Given the description of an element on the screen output the (x, y) to click on. 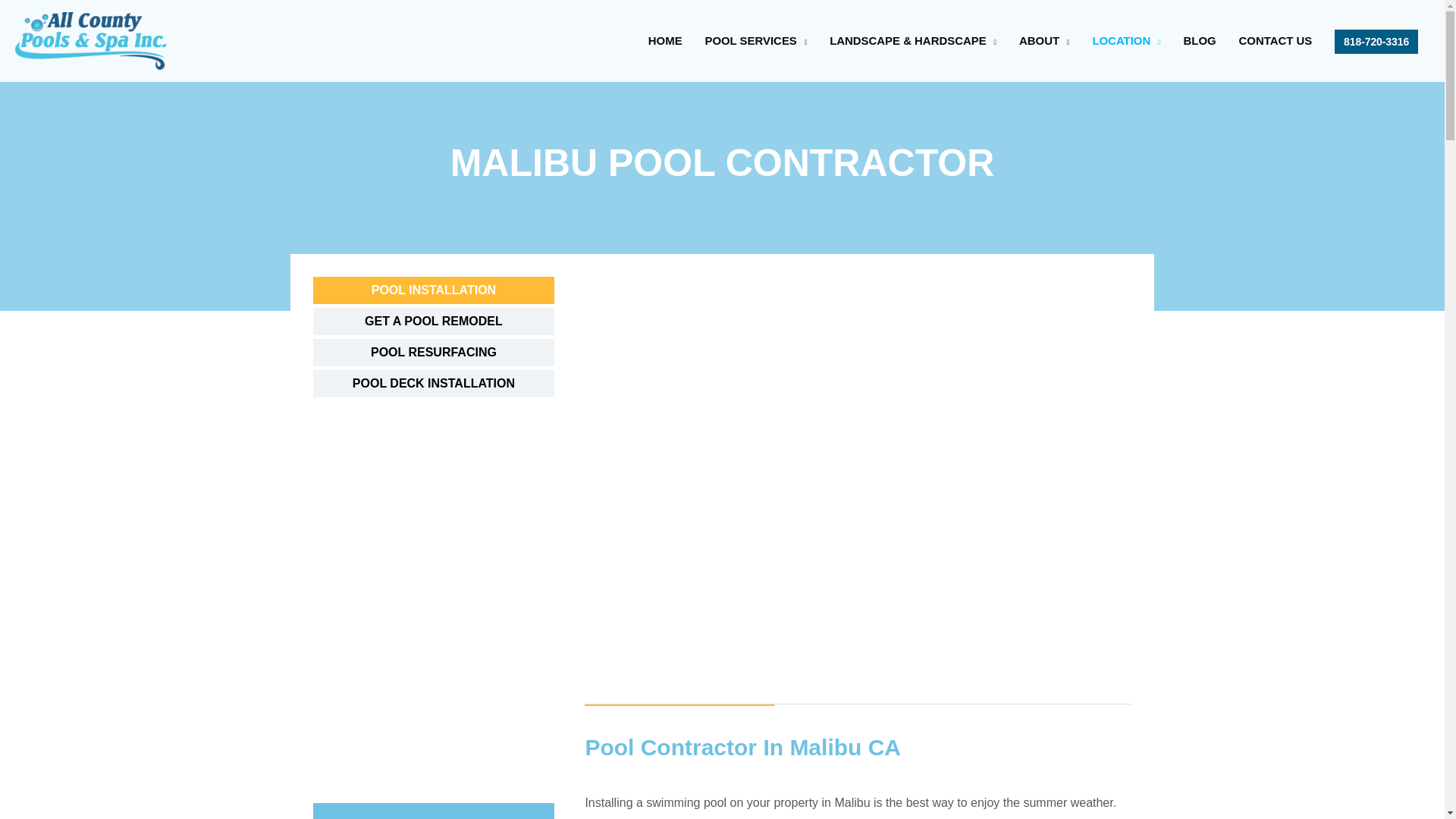
POOL SERVICES (756, 40)
ABOUT (1043, 40)
CONTACT US (1275, 40)
POOL INSTALLATION (433, 289)
818-720-3316 (1376, 41)
LOCATION (1126, 40)
